Given the description of an element on the screen output the (x, y) to click on. 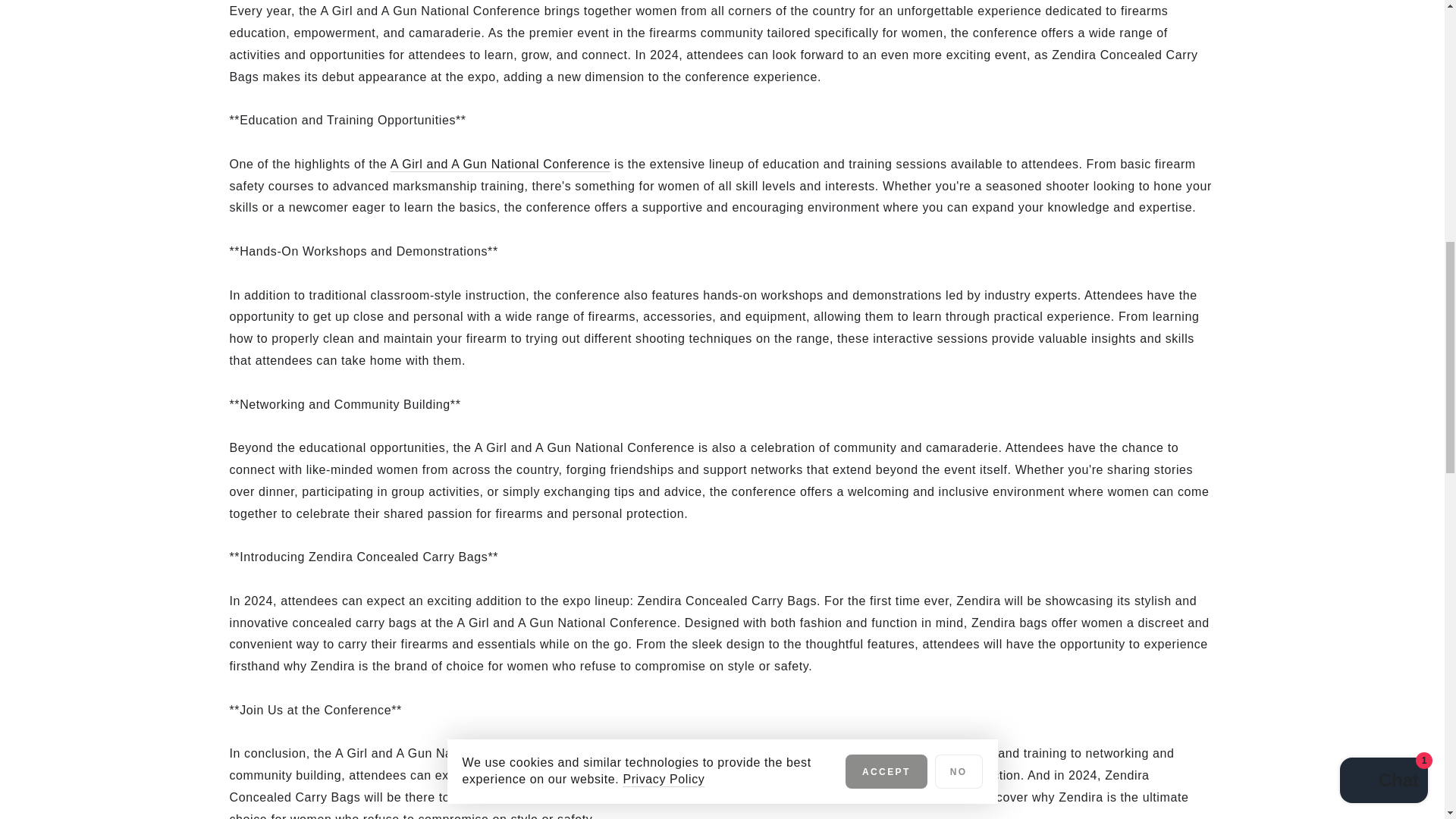
A Girl and A Gun AGAG Annual Conference (500, 164)
